Given the description of an element on the screen output the (x, y) to click on. 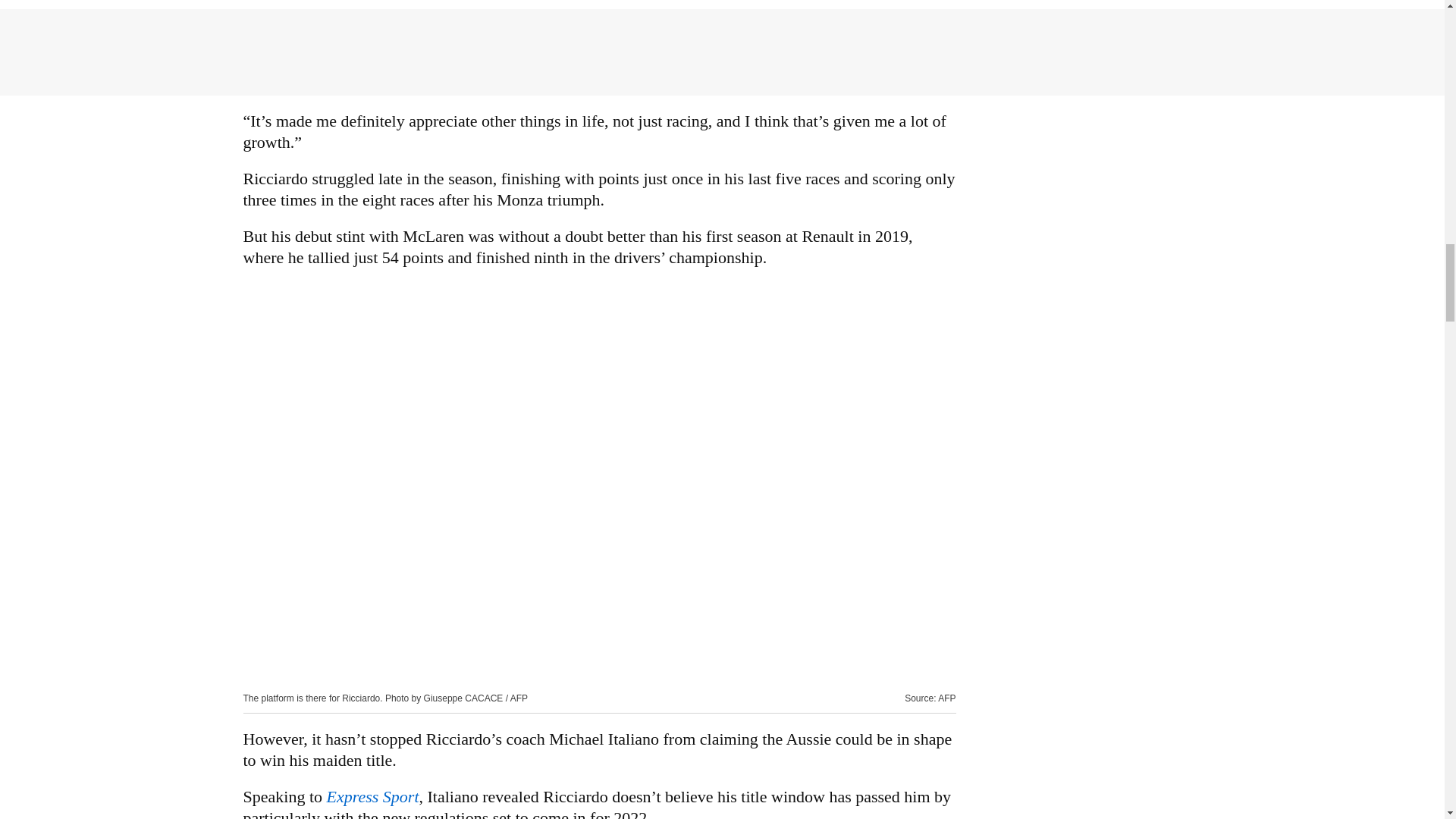
Express Sport (372, 796)
www.express.co.uk (372, 796)
